Given the description of an element on the screen output the (x, y) to click on. 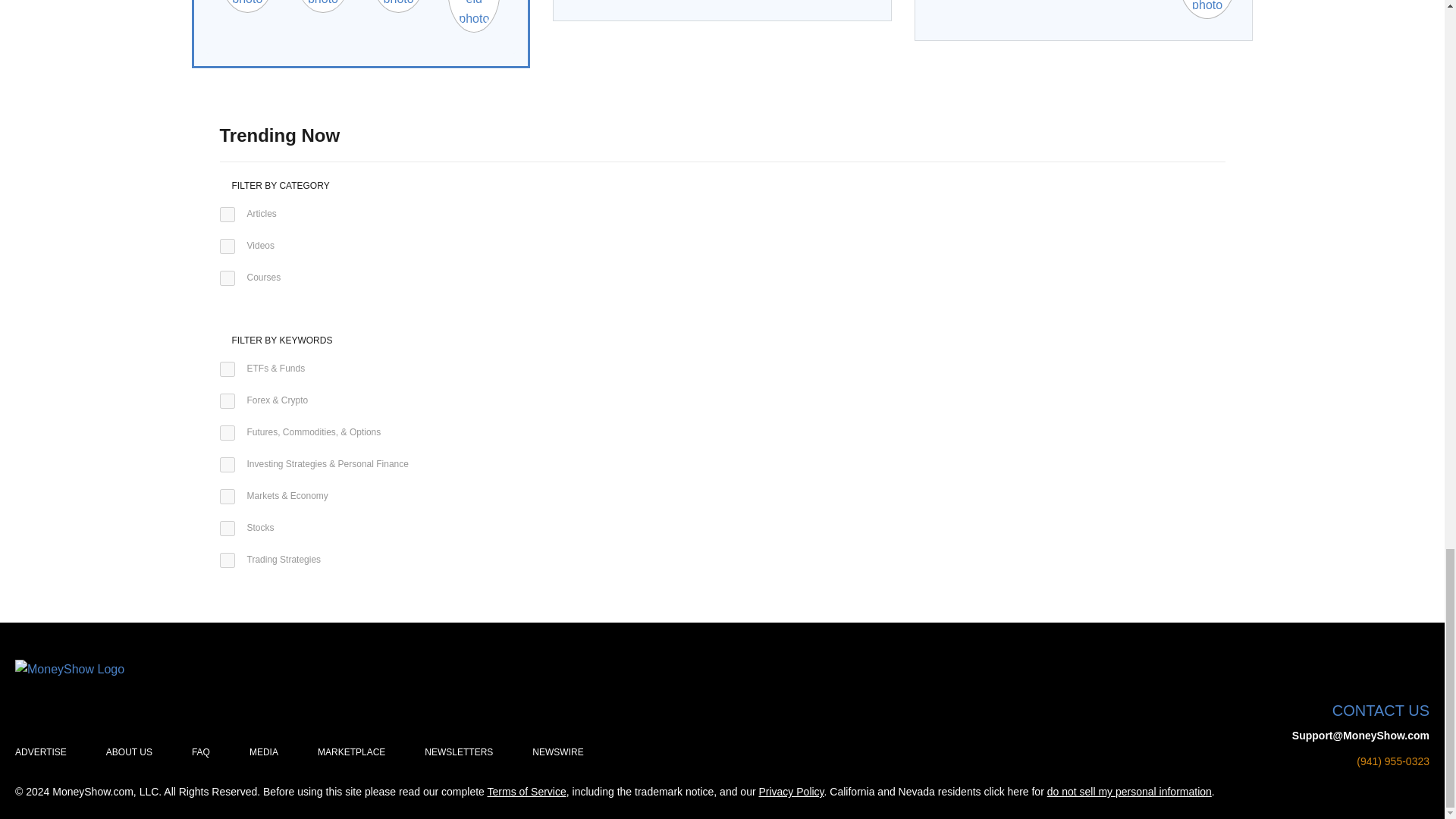
Trading Strategies (226, 560)
Marc Lichtenfeld (473, 16)
Kelley Wright (398, 6)
Mike Larson (248, 6)
Articles (226, 214)
Videos (226, 246)
Stocks (226, 528)
Courses (226, 278)
Jesse Cohen (323, 6)
